Given the description of an element on the screen output the (x, y) to click on. 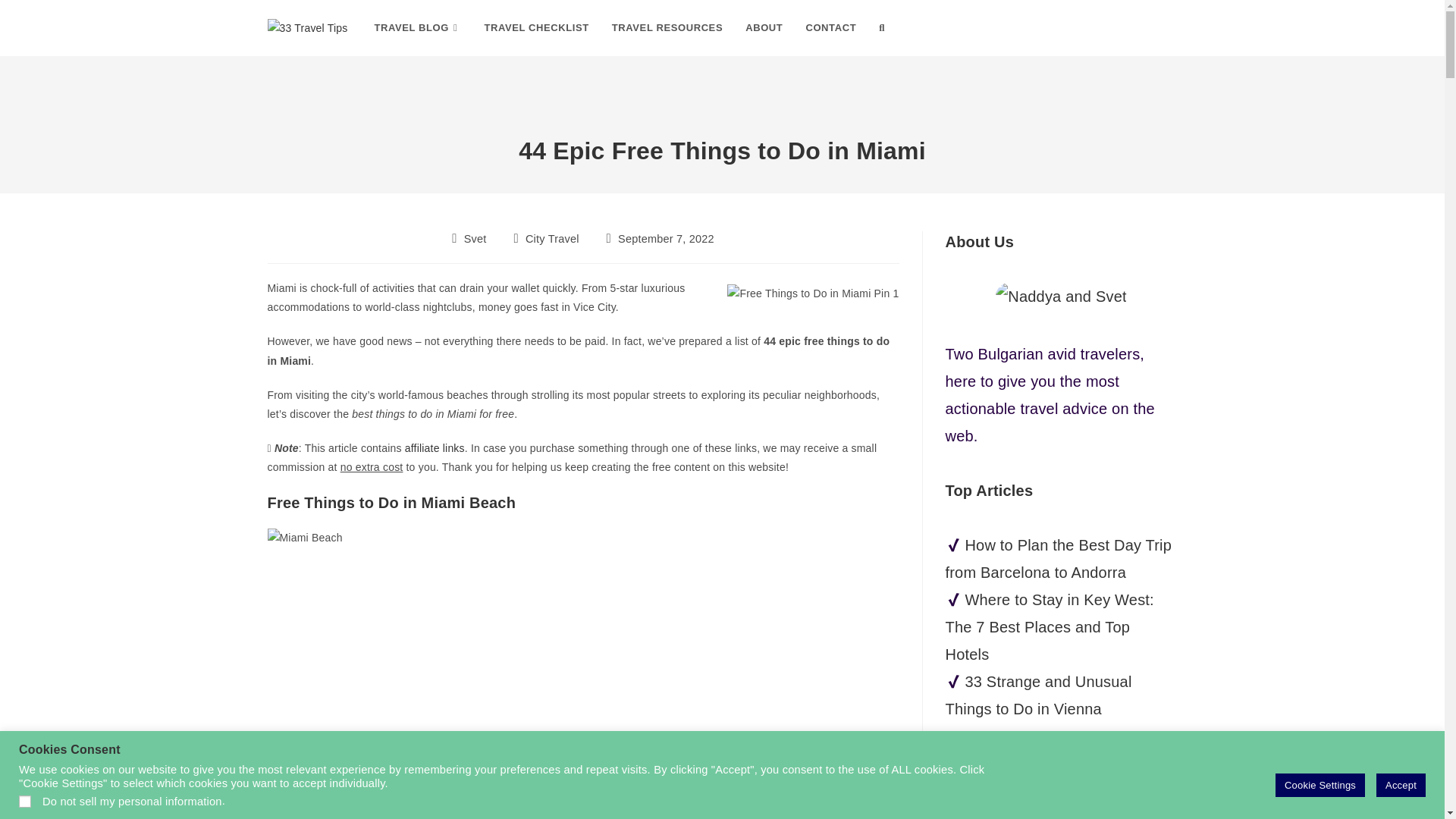
ABOUT (763, 28)
TRAVEL RESOURCES (666, 28)
CONTACT (830, 28)
Posts by Svet (475, 238)
on (24, 801)
TRAVEL BLOG (416, 28)
TRAVEL CHECKLIST (535, 28)
